Given the description of an element on the screen output the (x, y) to click on. 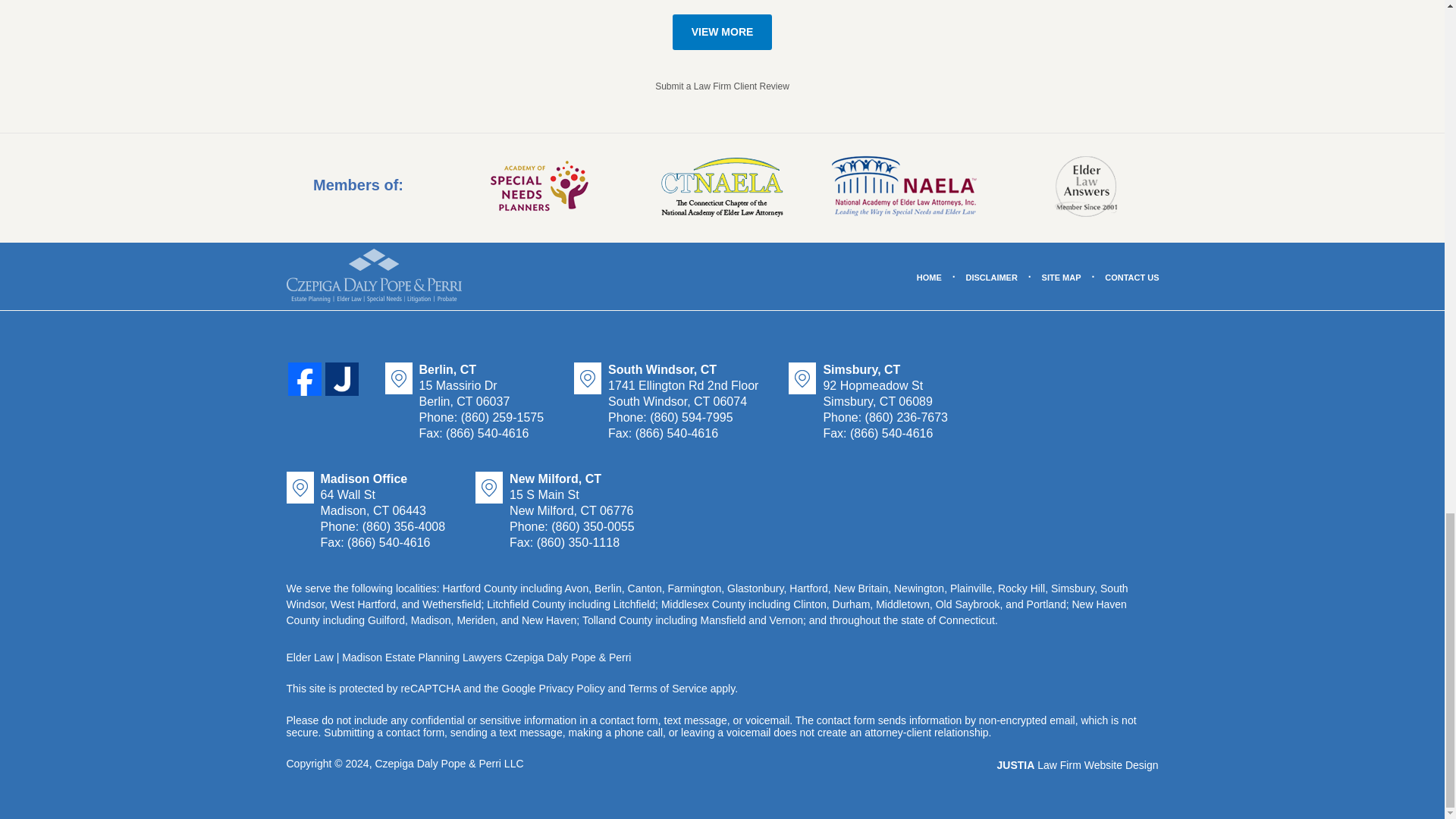
Justia (341, 378)
Facebook (304, 378)
